Given the description of an element on the screen output the (x, y) to click on. 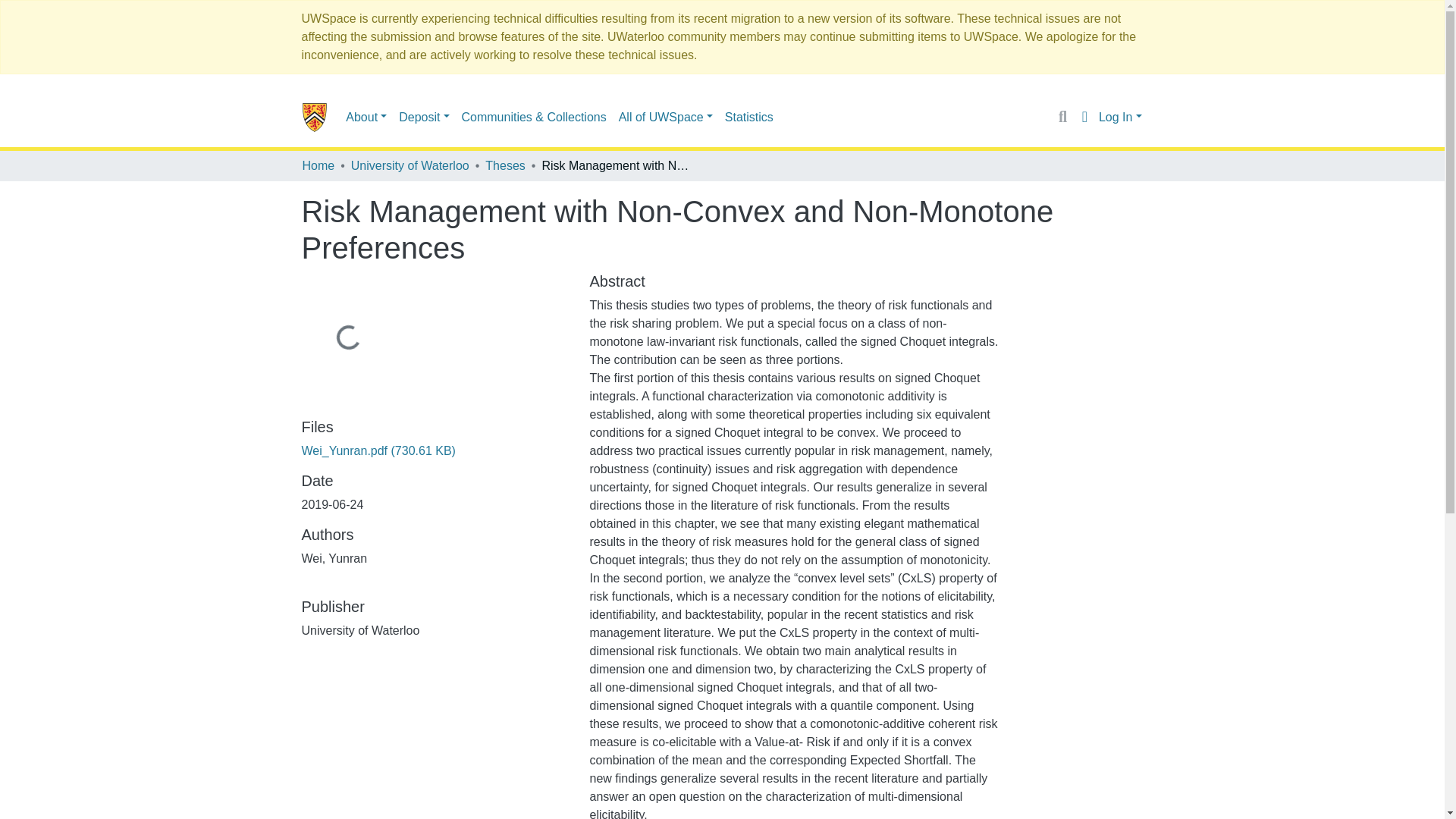
University of Waterloo (409, 166)
Deposit (423, 116)
Home (317, 166)
All of UWSpace (665, 116)
Language switch (1084, 116)
Statistics (748, 116)
Statistics (748, 116)
Search (1061, 116)
Log In (1119, 116)
Theses (504, 166)
